Given the description of an element on the screen output the (x, y) to click on. 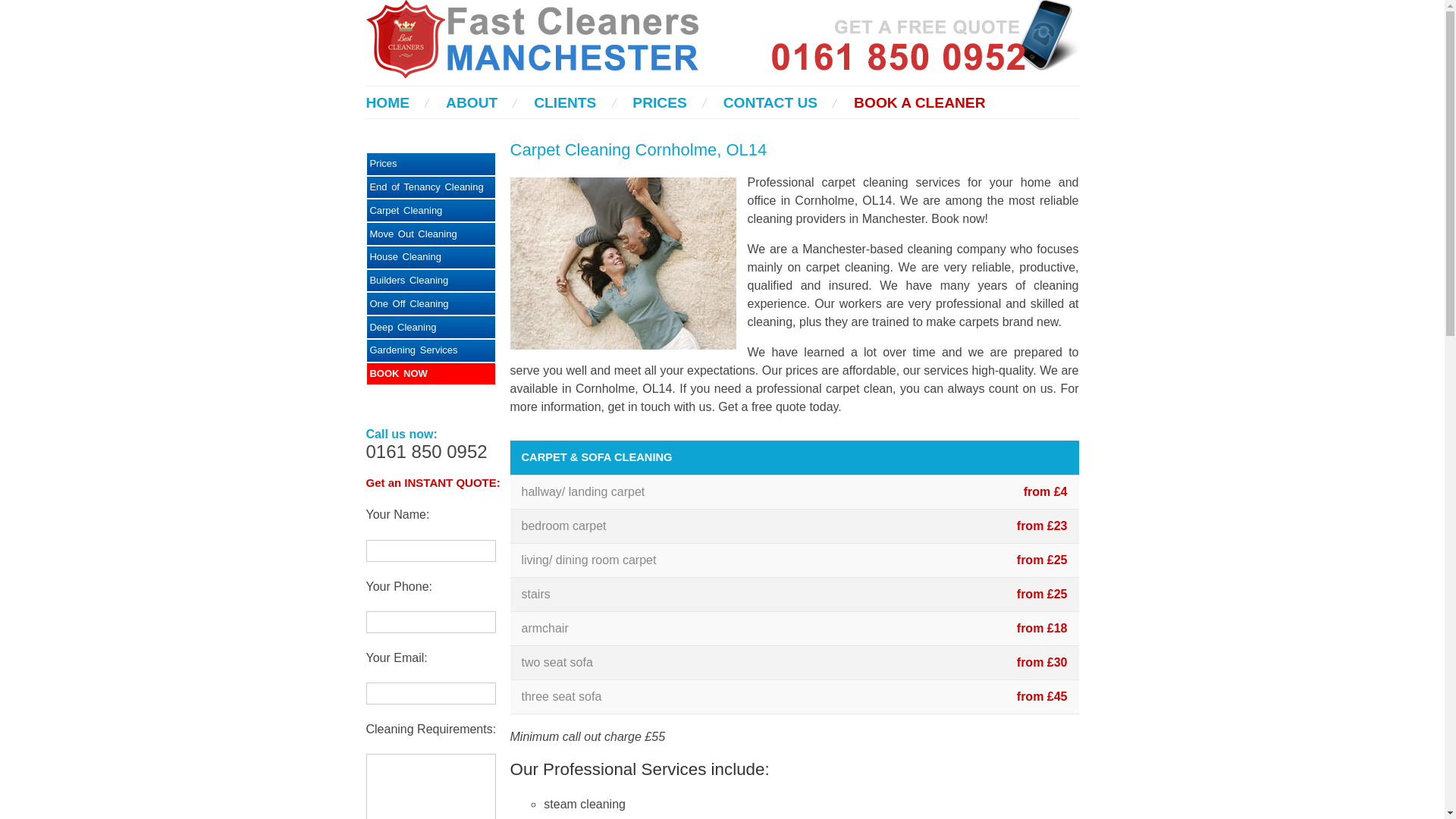
BOOK A CLEANER (919, 102)
Builders Cleaning (430, 280)
House Cleaning Service (430, 257)
HOME (387, 102)
House Cleaning (430, 257)
Prices (430, 164)
One Off Cleaning Service (430, 303)
Deep Cleaning (430, 327)
PRICES (658, 102)
Deep Cleaning Service (430, 350)
Carpet Cleaning Service (430, 210)
CONTACT US (769, 102)
Gardening Services (430, 350)
Prices (430, 164)
BOOK NOW (430, 373)
